Given the description of an element on the screen output the (x, y) to click on. 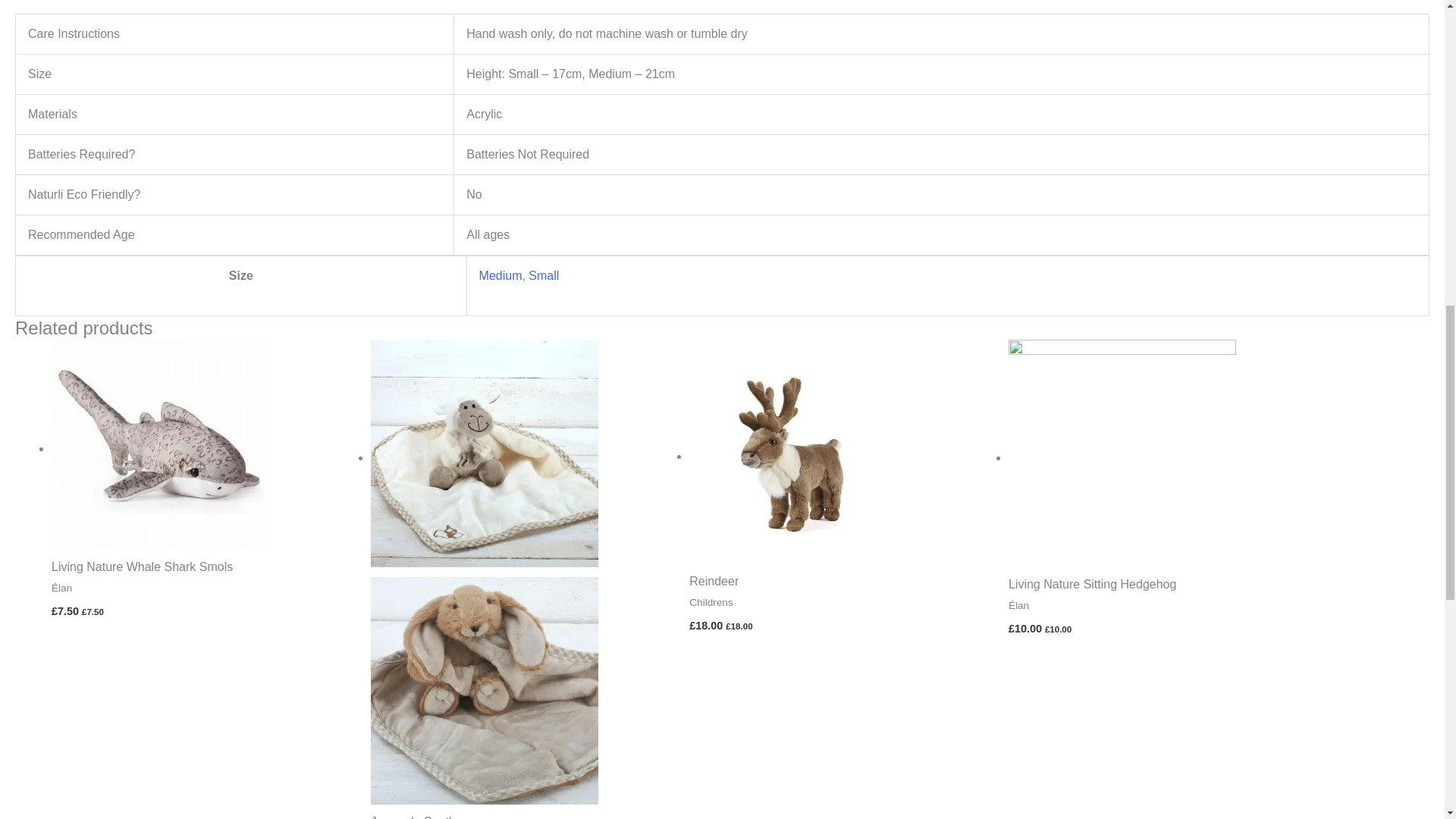
Small (543, 275)
Jomanda Soothers (523, 816)
Living Nature Whale Shark Smols (202, 567)
Medium (500, 275)
Reindeer (840, 581)
